Given the description of an element on the screen output the (x, y) to click on. 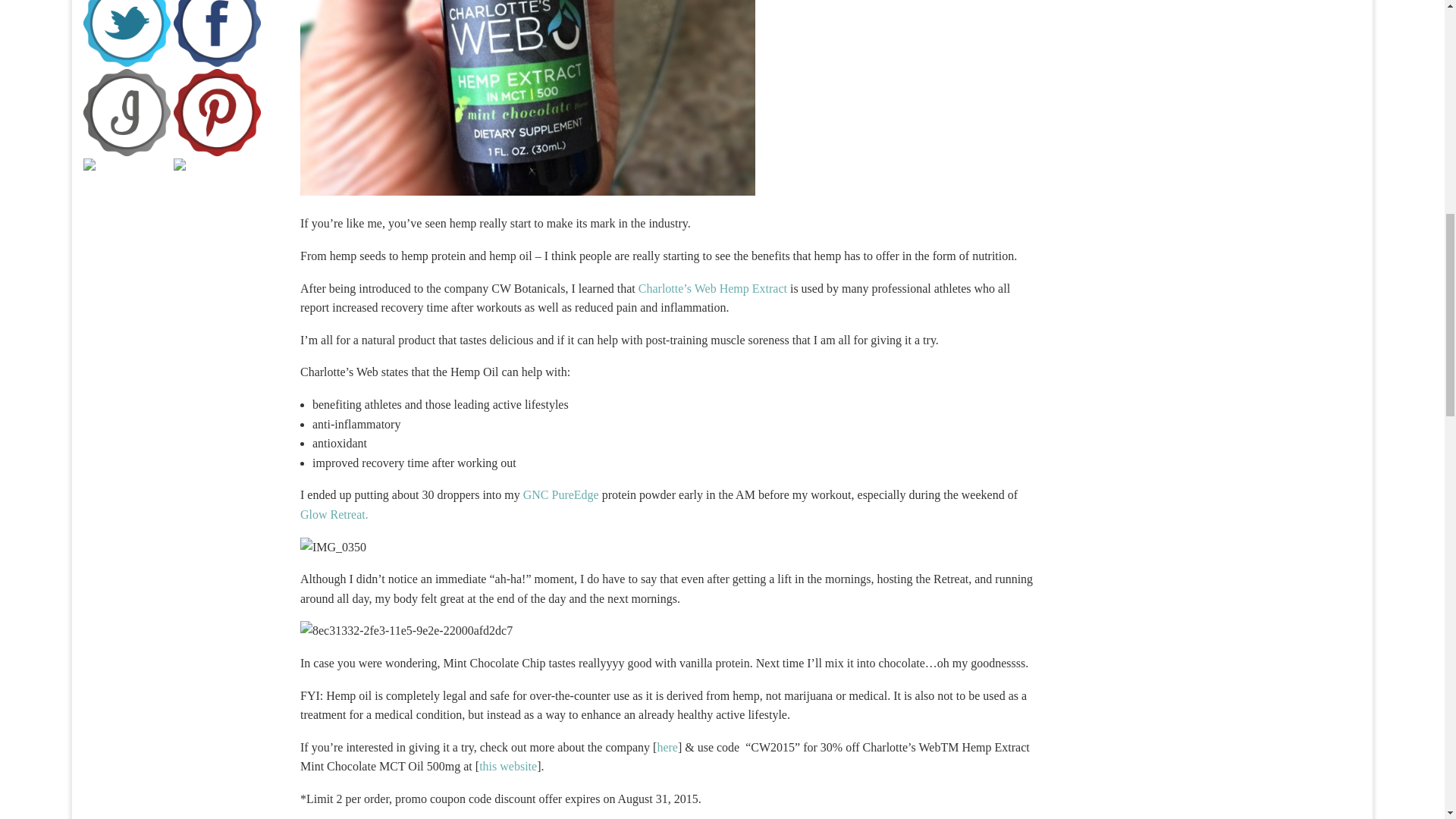
Glow Retreat. (333, 513)
GNC PureEdge (558, 494)
this website (508, 766)
here (667, 747)
